Given the description of an element on the screen output the (x, y) to click on. 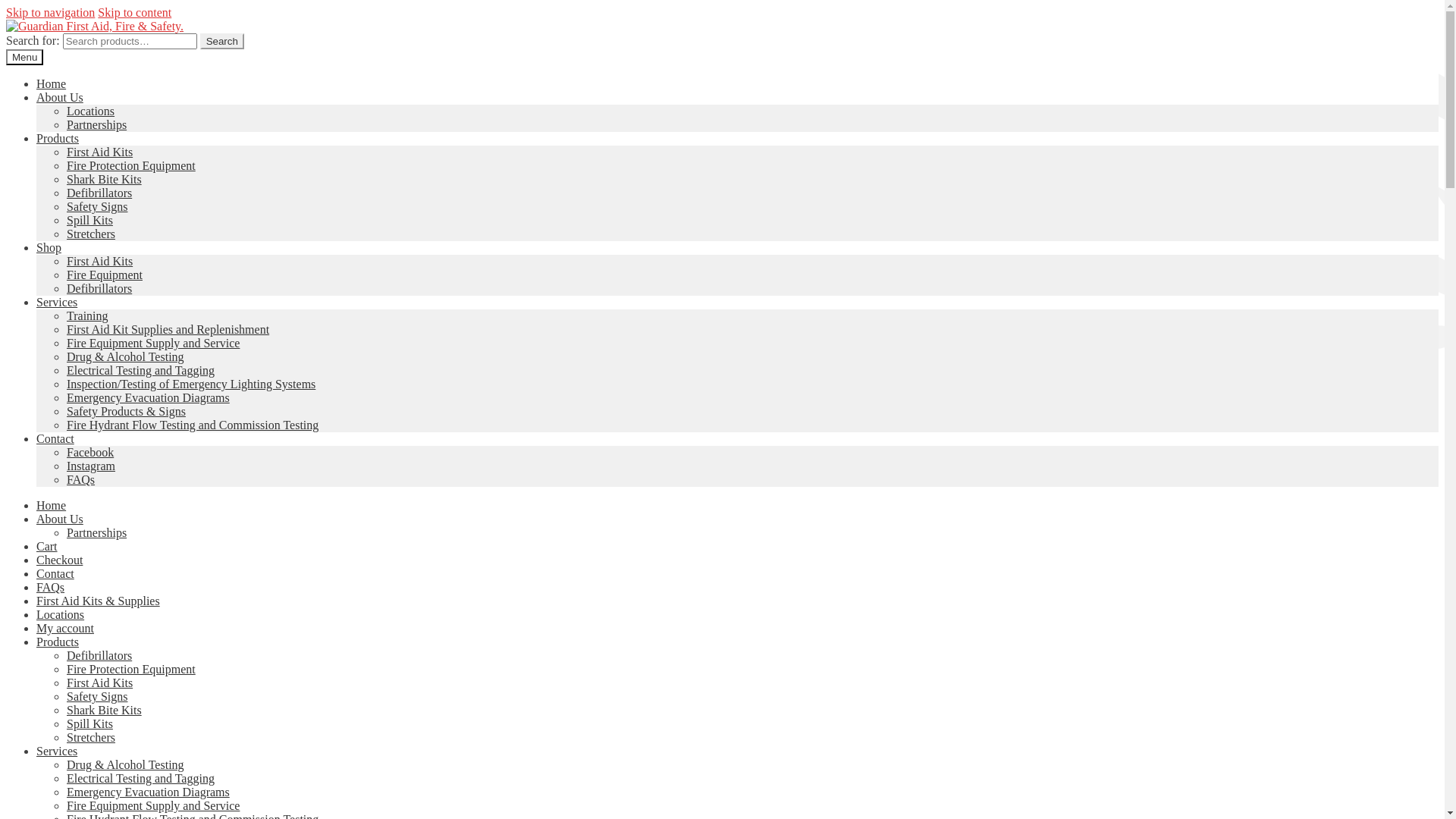
Home Element type: text (50, 83)
Locations Element type: text (90, 110)
Partnerships Element type: text (96, 124)
Stretchers Element type: text (90, 233)
Spill Kits Element type: text (89, 219)
Electrical Testing and Tagging Element type: text (140, 777)
Fire Protection Equipment Element type: text (130, 668)
Products Element type: text (57, 641)
Emergency Evacuation Diagrams Element type: text (147, 791)
Products Element type: text (57, 137)
Services Element type: text (56, 301)
Contact Element type: text (55, 573)
Safety Signs Element type: text (96, 206)
Skip to content Element type: text (134, 12)
Fire Equipment Supply and Service Element type: text (152, 805)
Shark Bite Kits Element type: text (103, 709)
Home Element type: text (50, 504)
First Aid Kits & Supplies Element type: text (98, 600)
Defibrillators Element type: text (98, 288)
First Aid Kits Element type: text (99, 260)
About Us Element type: text (59, 518)
Partnerships Element type: text (96, 532)
Services Element type: text (56, 750)
Shark Bite Kits Element type: text (103, 178)
Training Element type: text (87, 315)
Emergency Evacuation Diagrams Element type: text (147, 397)
Fire Equipment Supply and Service Element type: text (152, 342)
Contact Element type: text (55, 438)
Cart Element type: text (46, 545)
Fire Protection Equipment Element type: text (130, 165)
Safety Signs Element type: text (96, 696)
Checkout Element type: text (59, 559)
Locations Element type: text (60, 614)
Facebook Element type: text (89, 451)
Defibrillators Element type: text (98, 655)
Defibrillators Element type: text (98, 192)
Menu Element type: text (24, 57)
My account Element type: text (65, 627)
Electrical Testing and Tagging Element type: text (140, 370)
Drug & Alcohol Testing Element type: text (125, 764)
Safety Products & Signs Element type: text (125, 410)
FAQs Element type: text (80, 479)
Shop Element type: text (48, 247)
Search Element type: text (222, 41)
Fire Equipment Element type: text (104, 274)
FAQs Element type: text (50, 586)
Fire Hydrant Flow Testing and Commission Testing Element type: text (192, 424)
Spill Kits Element type: text (89, 723)
Stretchers Element type: text (90, 737)
First Aid Kits Element type: text (99, 682)
Drug & Alcohol Testing Element type: text (125, 356)
About Us Element type: text (59, 97)
Instagram Element type: text (90, 465)
Skip to navigation Element type: text (50, 12)
First Aid Kits Element type: text (99, 151)
First Aid Kit Supplies and Replenishment Element type: text (167, 329)
Inspection/Testing of Emergency Lighting Systems Element type: text (190, 383)
